Given the description of an element on the screen output the (x, y) to click on. 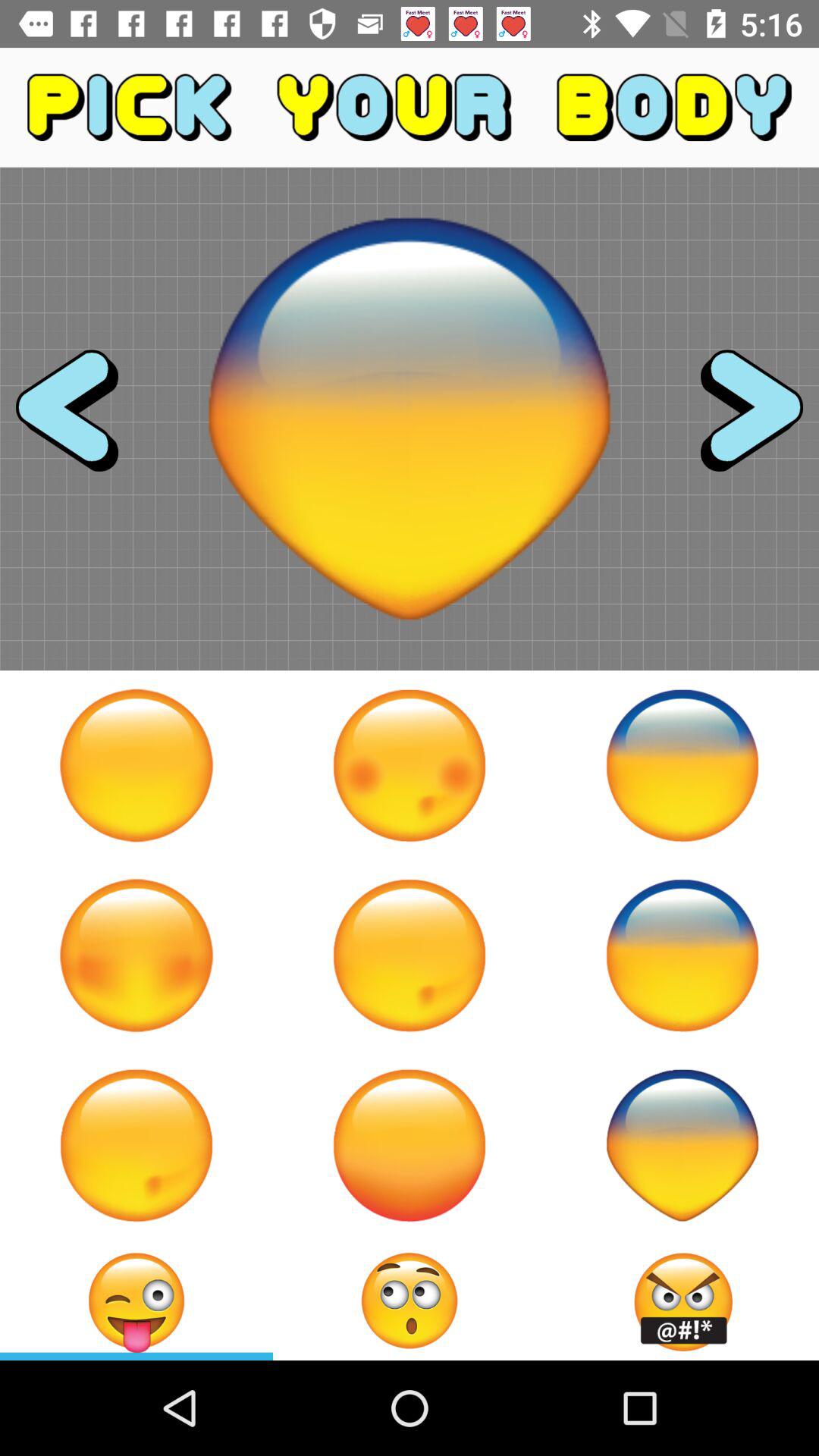
select icon (409, 955)
